Given the description of an element on the screen output the (x, y) to click on. 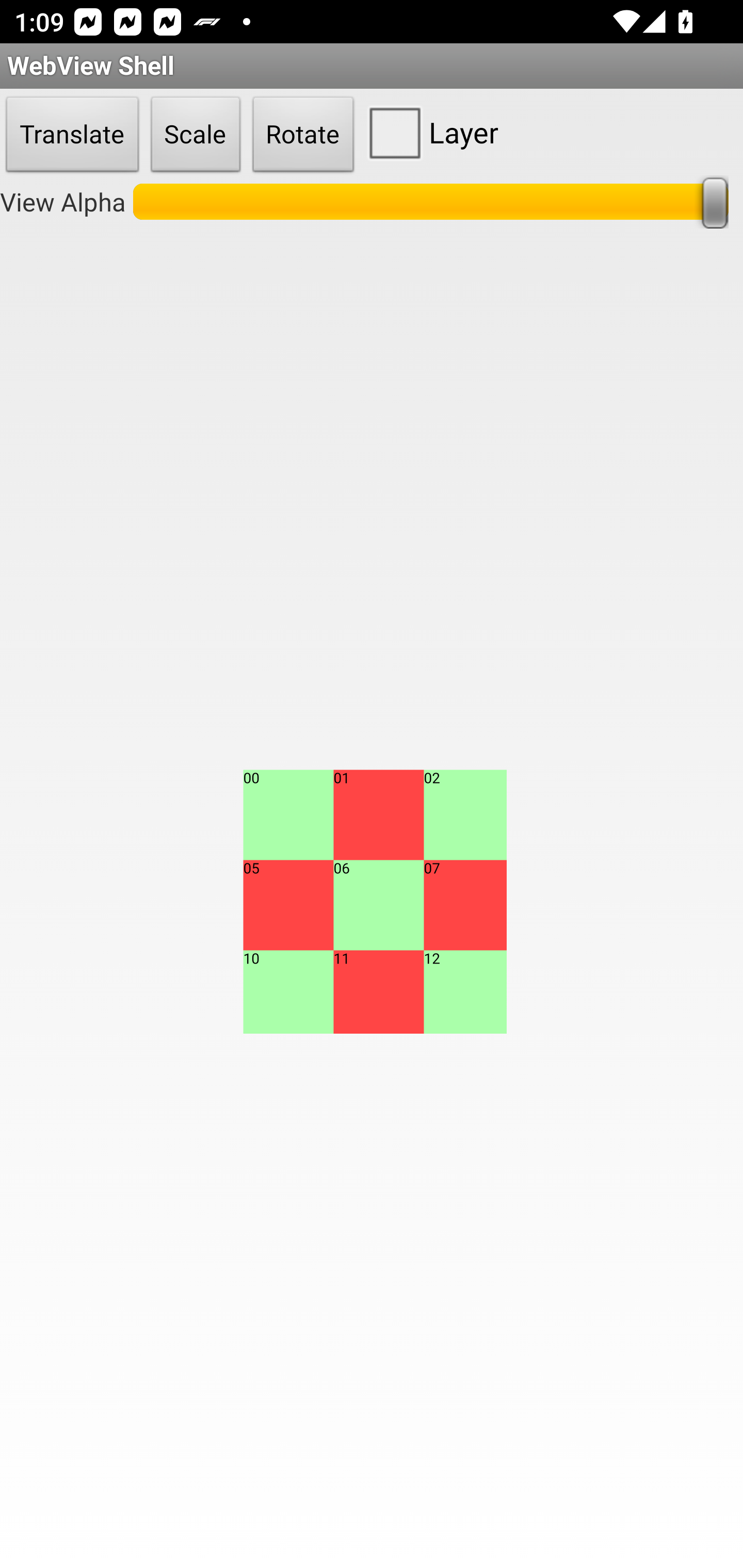
Layer (429, 132)
Translate (72, 135)
Scale (195, 135)
Rotate (303, 135)
